Given the description of an element on the screen output the (x, y) to click on. 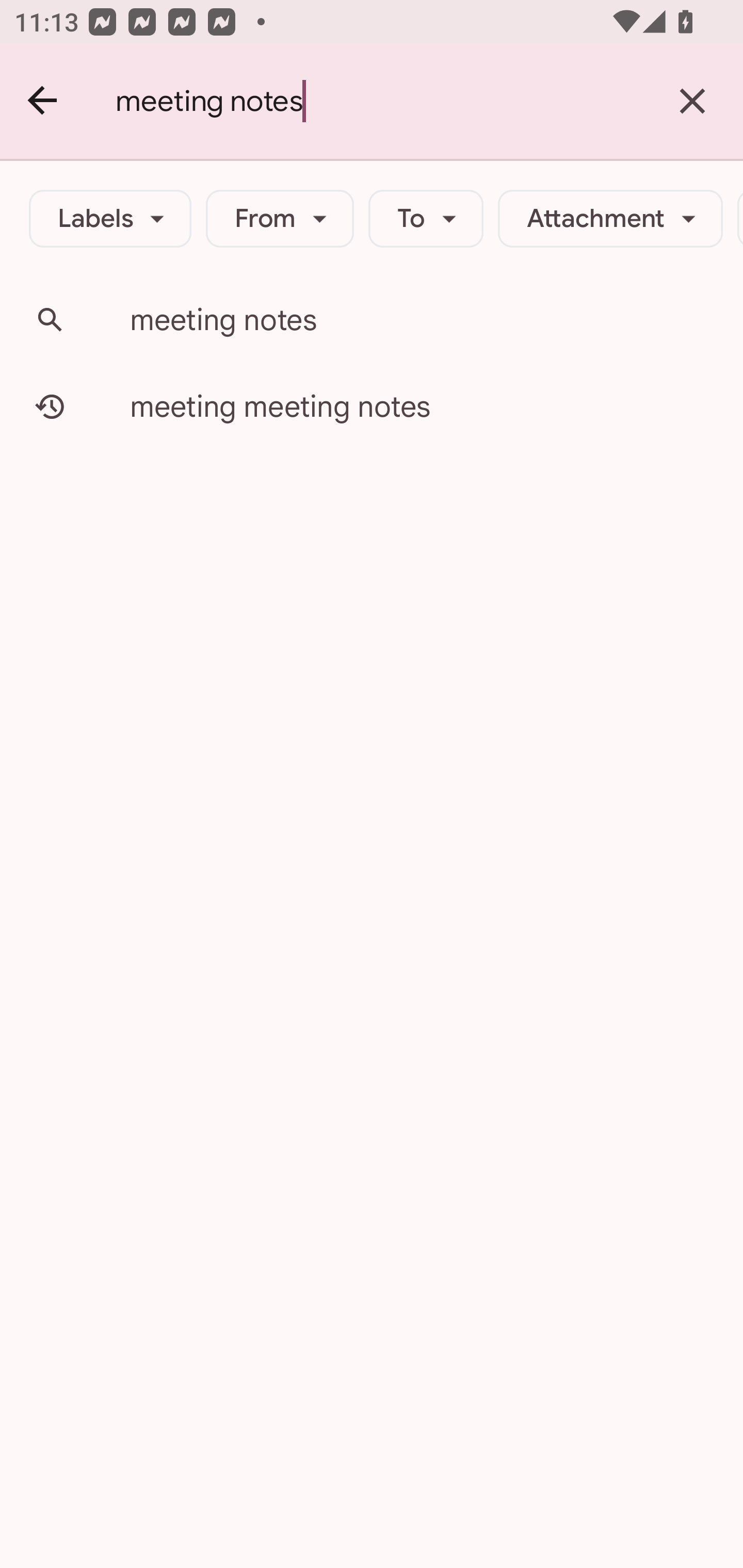
Back (43, 101)
meeting notes (378, 101)
Clear text (692, 101)
Labels (109, 218)
From (279, 218)
To (425, 218)
Attachment (609, 218)
meeting notes Suggestion: meeting notes (371, 319)
